Given the description of an element on the screen output the (x, y) to click on. 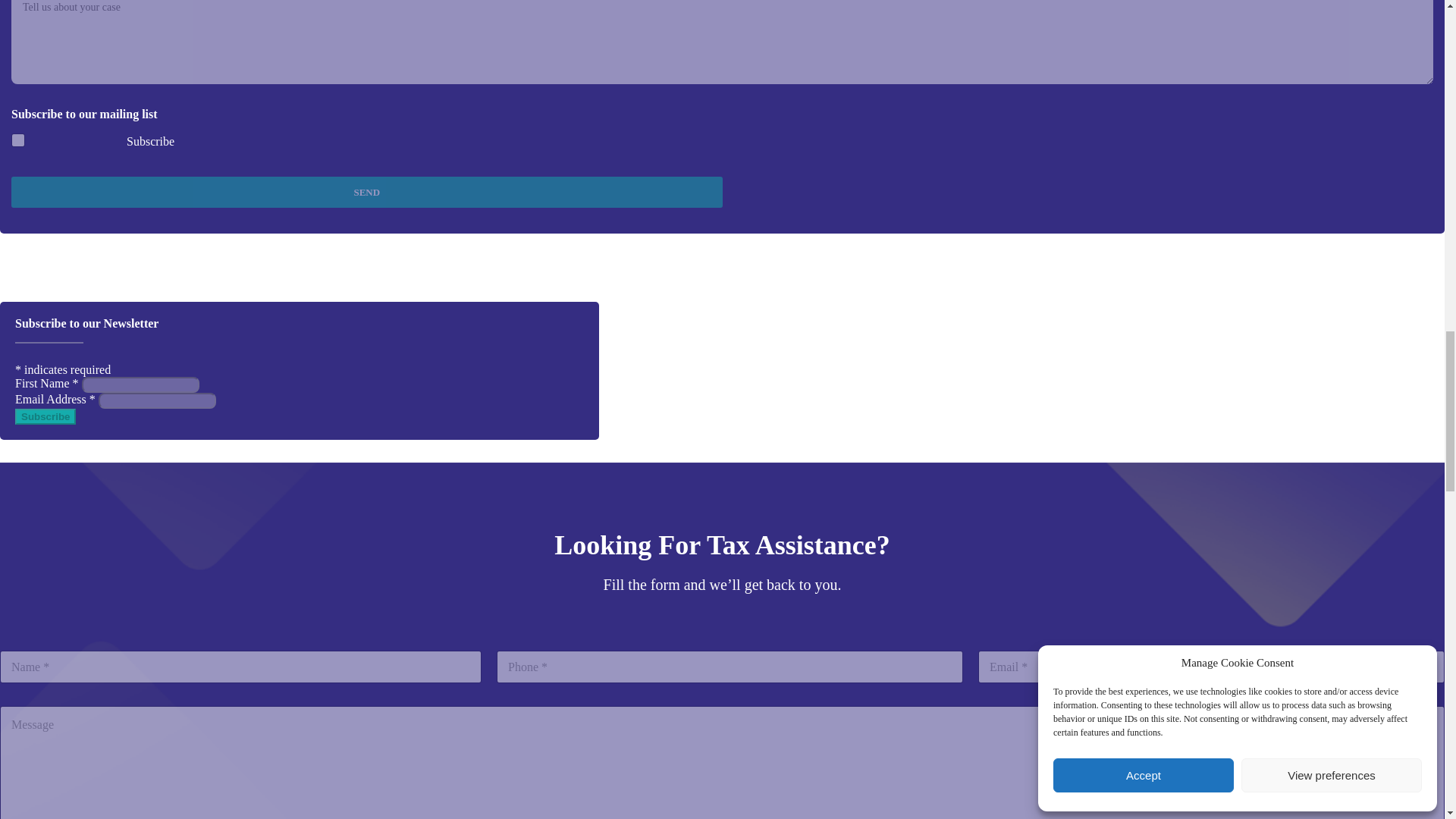
Subscribe (44, 416)
Subscribe (69, 142)
